Given the description of an element on the screen output the (x, y) to click on. 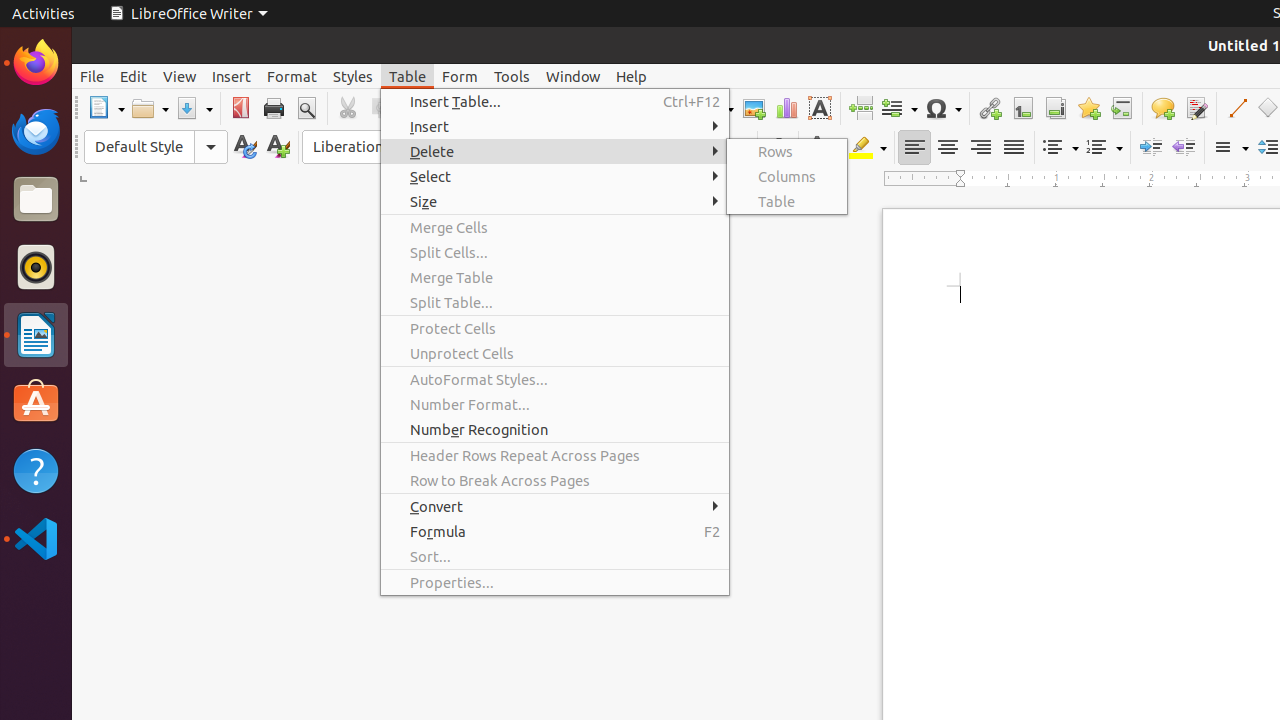
PDF Element type: push-button (240, 108)
Bullets Element type: push-button (1060, 147)
Form Element type: menu (460, 76)
Symbol Element type: push-button (943, 108)
Row to Break Across Pages Element type: menu-item (555, 480)
